Given the description of an element on the screen output the (x, y) to click on. 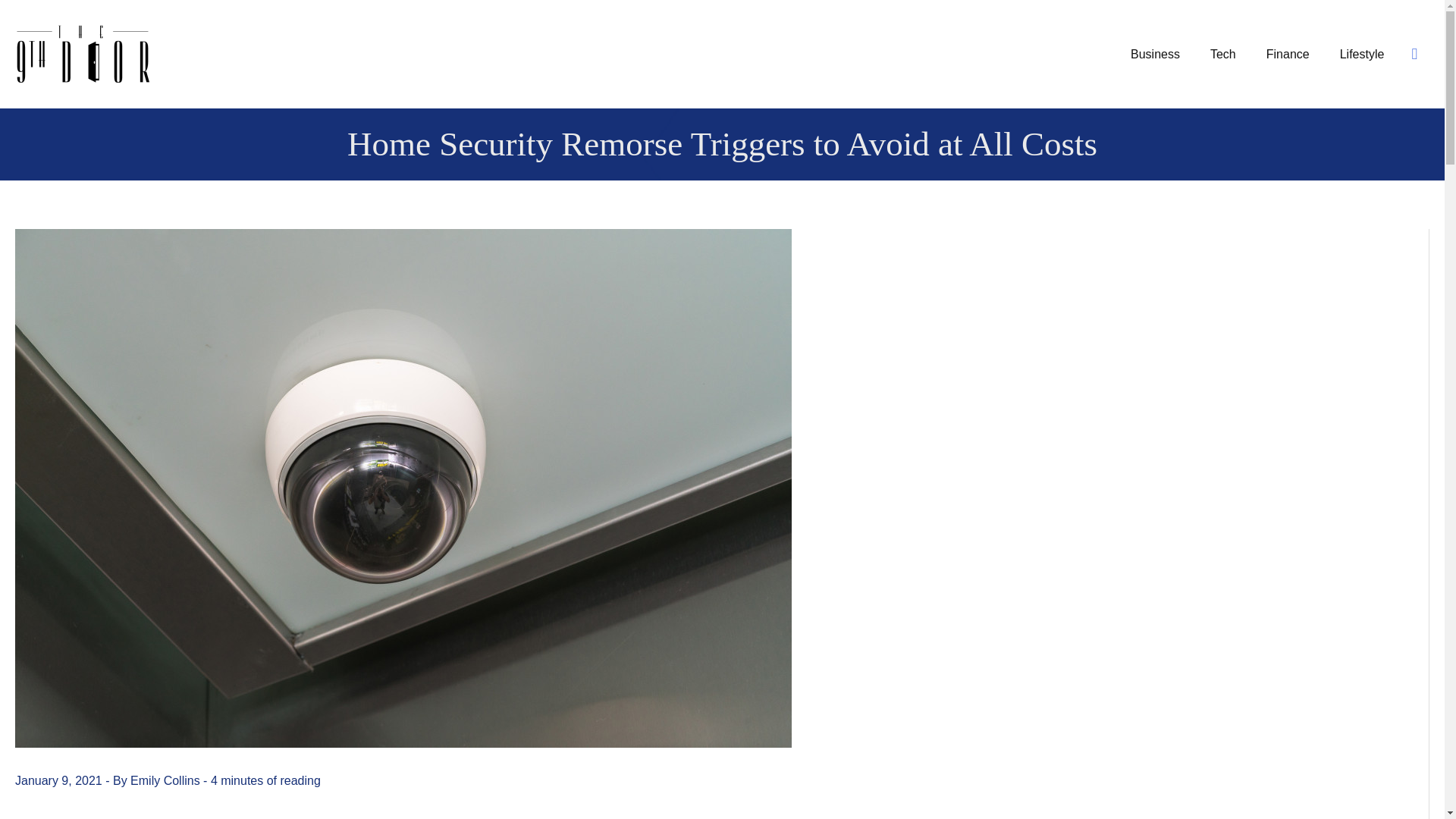
Lifestyle (1361, 54)
View all posts by Emily Collins (167, 780)
Tech (1222, 54)
Business (1155, 54)
Finance (1287, 54)
Emily Collins (167, 780)
